Given the description of an element on the screen output the (x, y) to click on. 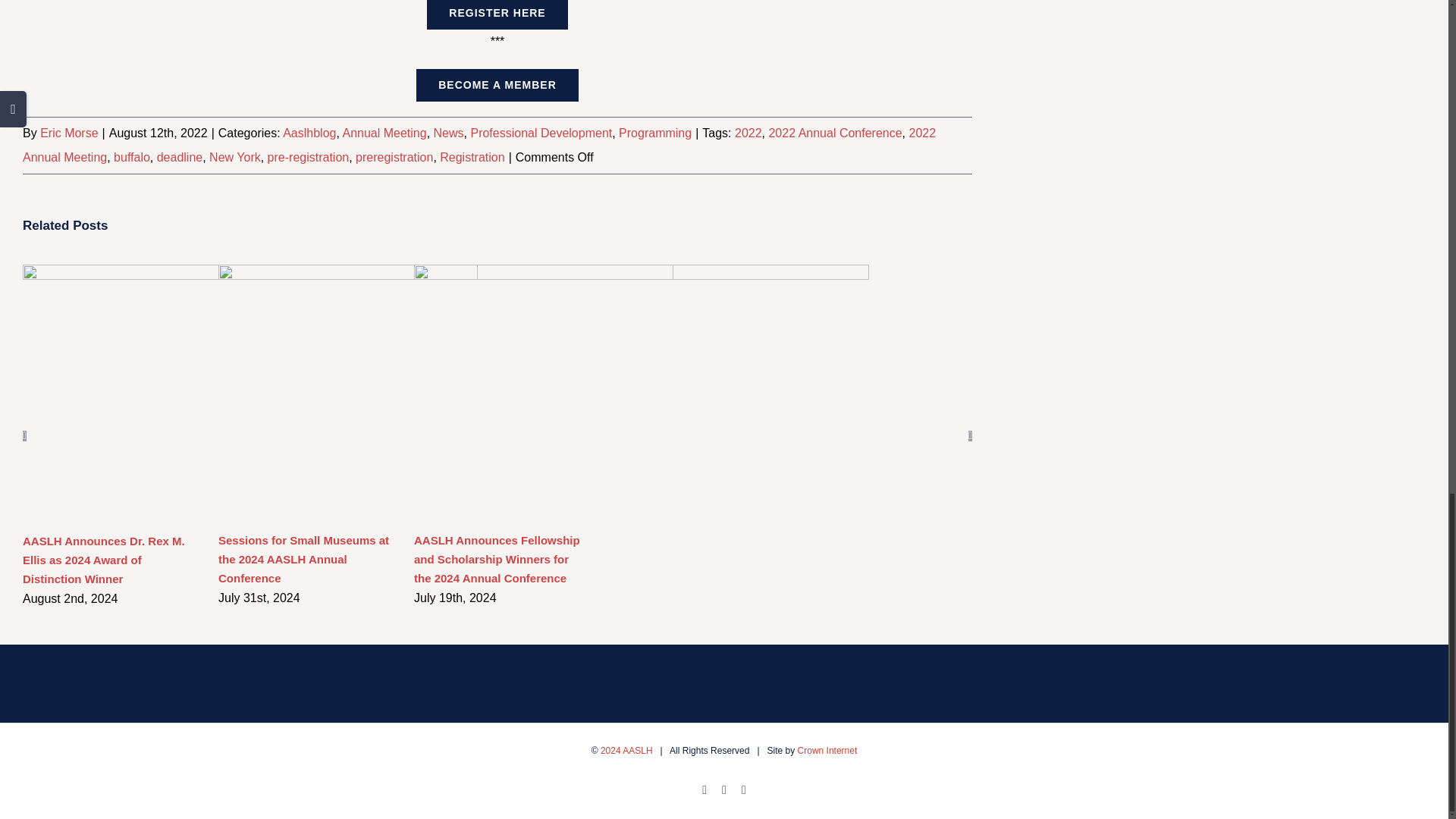
Posts by Eric Morse (68, 132)
